Given the description of an element on the screen output the (x, y) to click on. 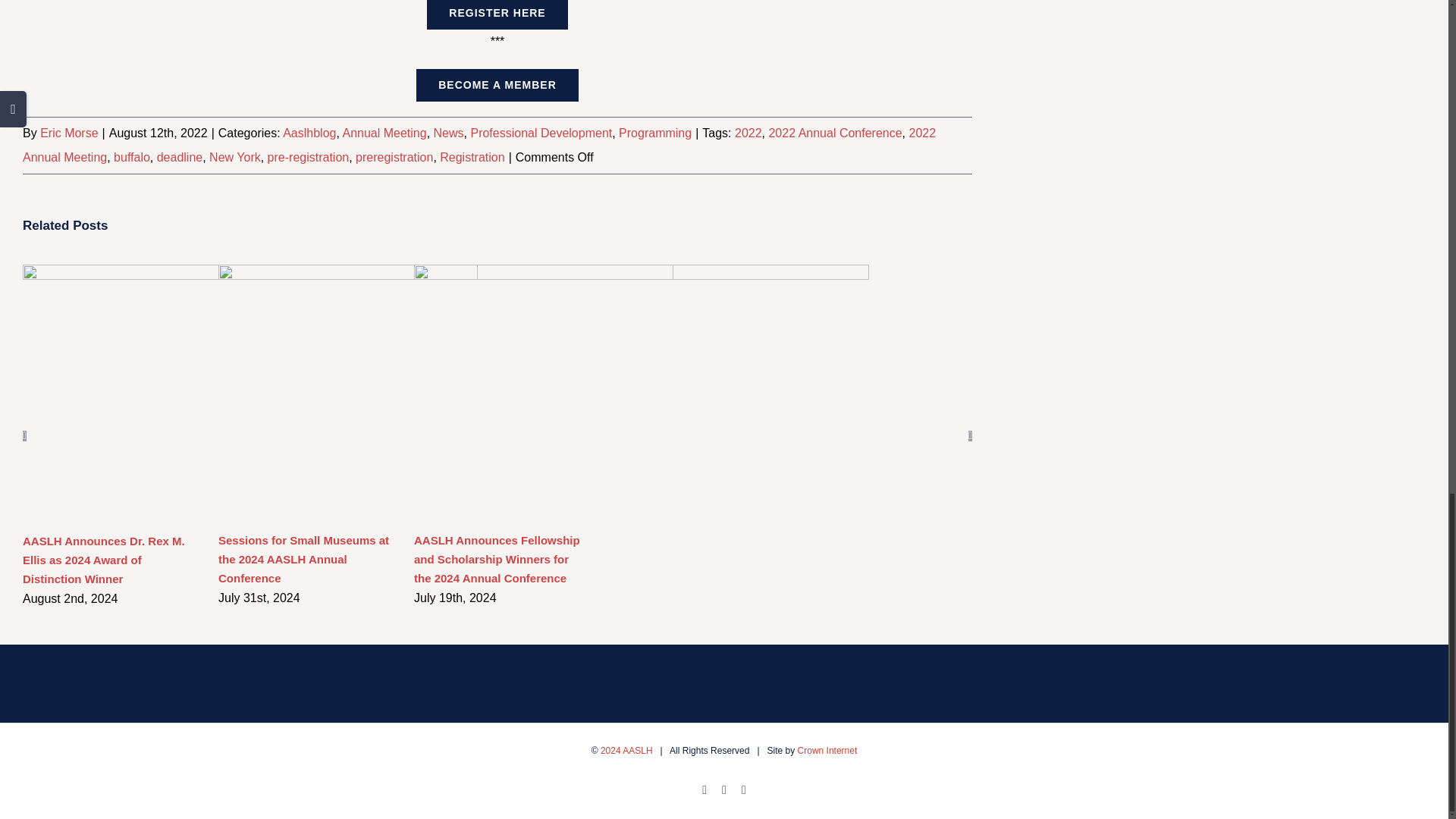
Posts by Eric Morse (68, 132)
